Given the description of an element on the screen output the (x, y) to click on. 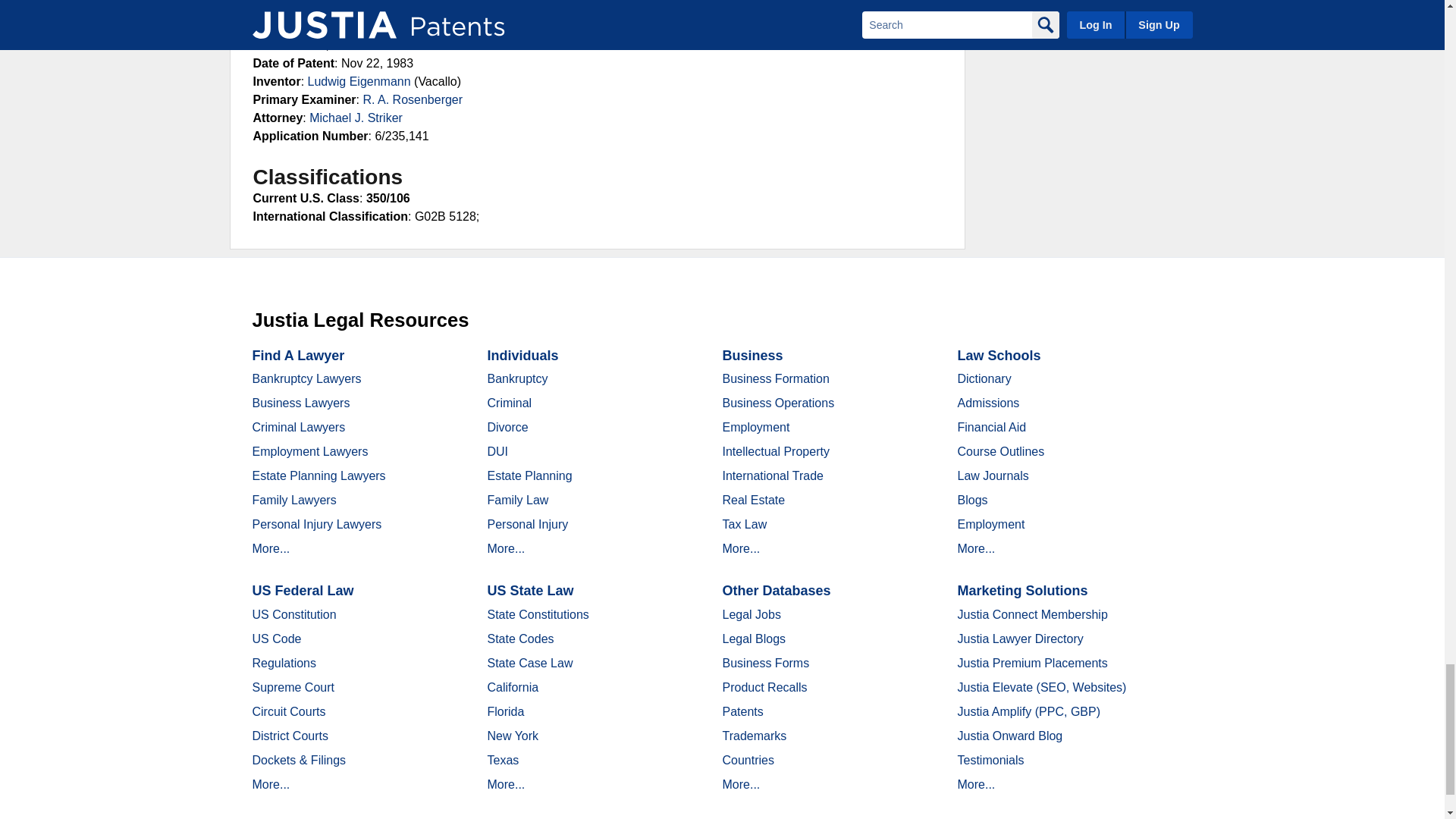
Ludwig Eigenmann (358, 81)
R. A. Rosenberger (412, 99)
Michael J. Striker (355, 117)
